Given the description of an element on the screen output the (x, y) to click on. 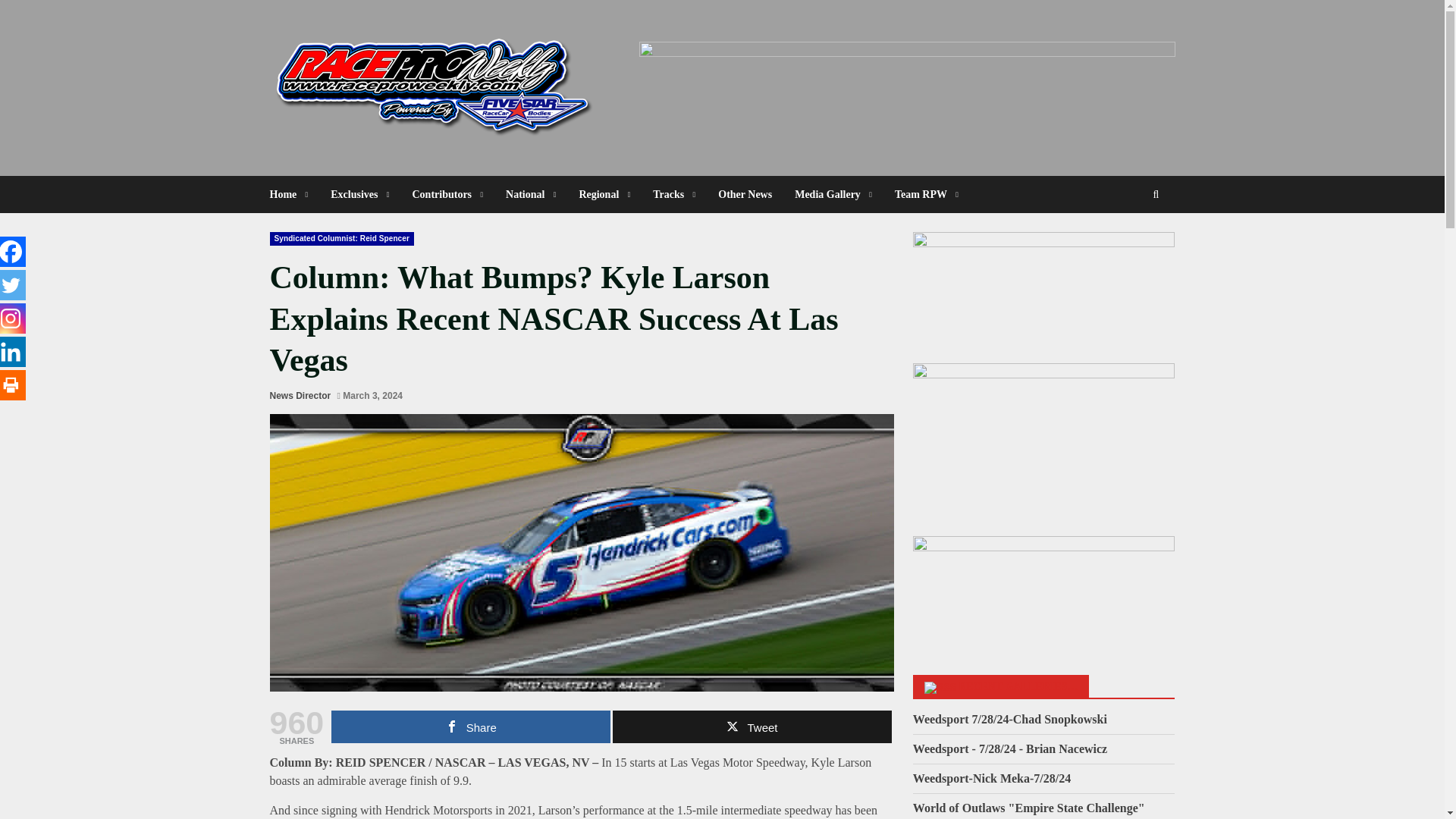
Home (294, 194)
Contributors (447, 194)
Regional (604, 194)
Exclusives (359, 194)
National (531, 194)
